Given the description of an element on the screen output the (x, y) to click on. 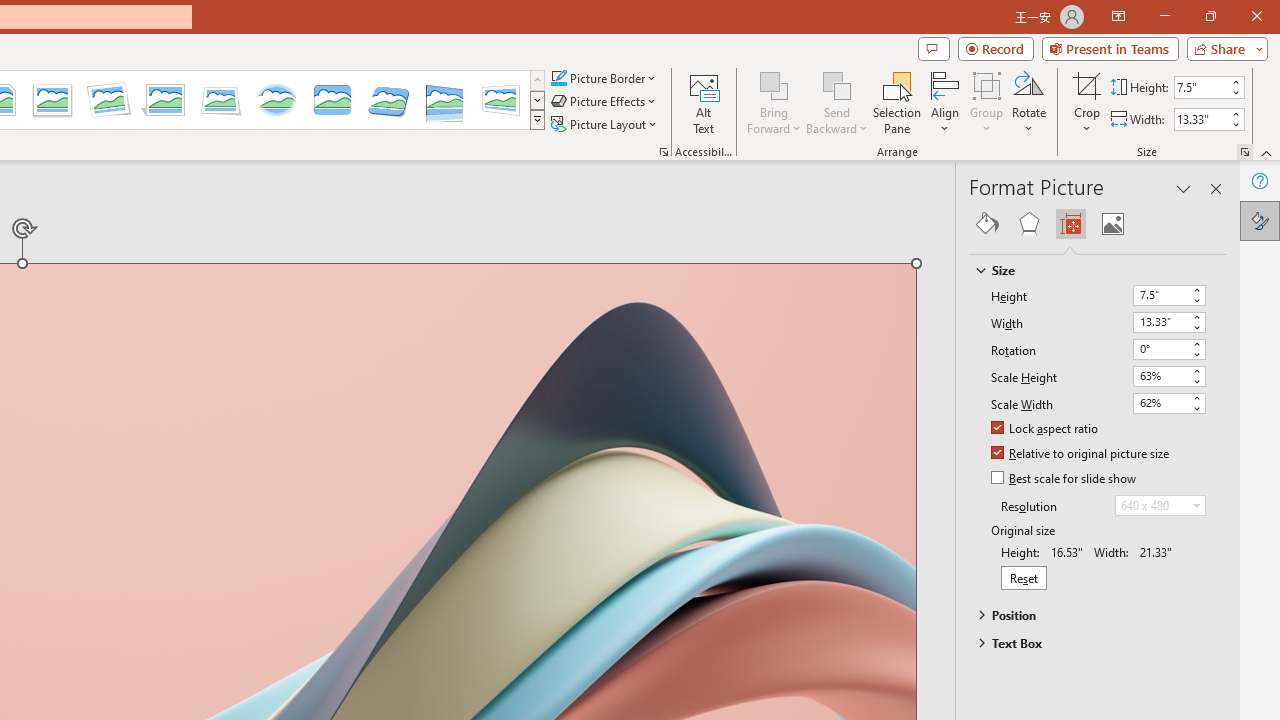
Height (1168, 295)
Picture (1112, 223)
Scale Width (1160, 402)
Size and Position... (1244, 151)
Present in Teams (1109, 48)
Relative to original picture size (1081, 453)
Row Down (537, 100)
Rotation (1160, 348)
Scale Height (1160, 376)
Open (1195, 505)
Soft Edge Oval (276, 100)
Task Pane Options (1183, 188)
Perspective Shadow, White (164, 100)
More Options (1087, 121)
Picture... (663, 151)
